Given the description of an element on the screen output the (x, y) to click on. 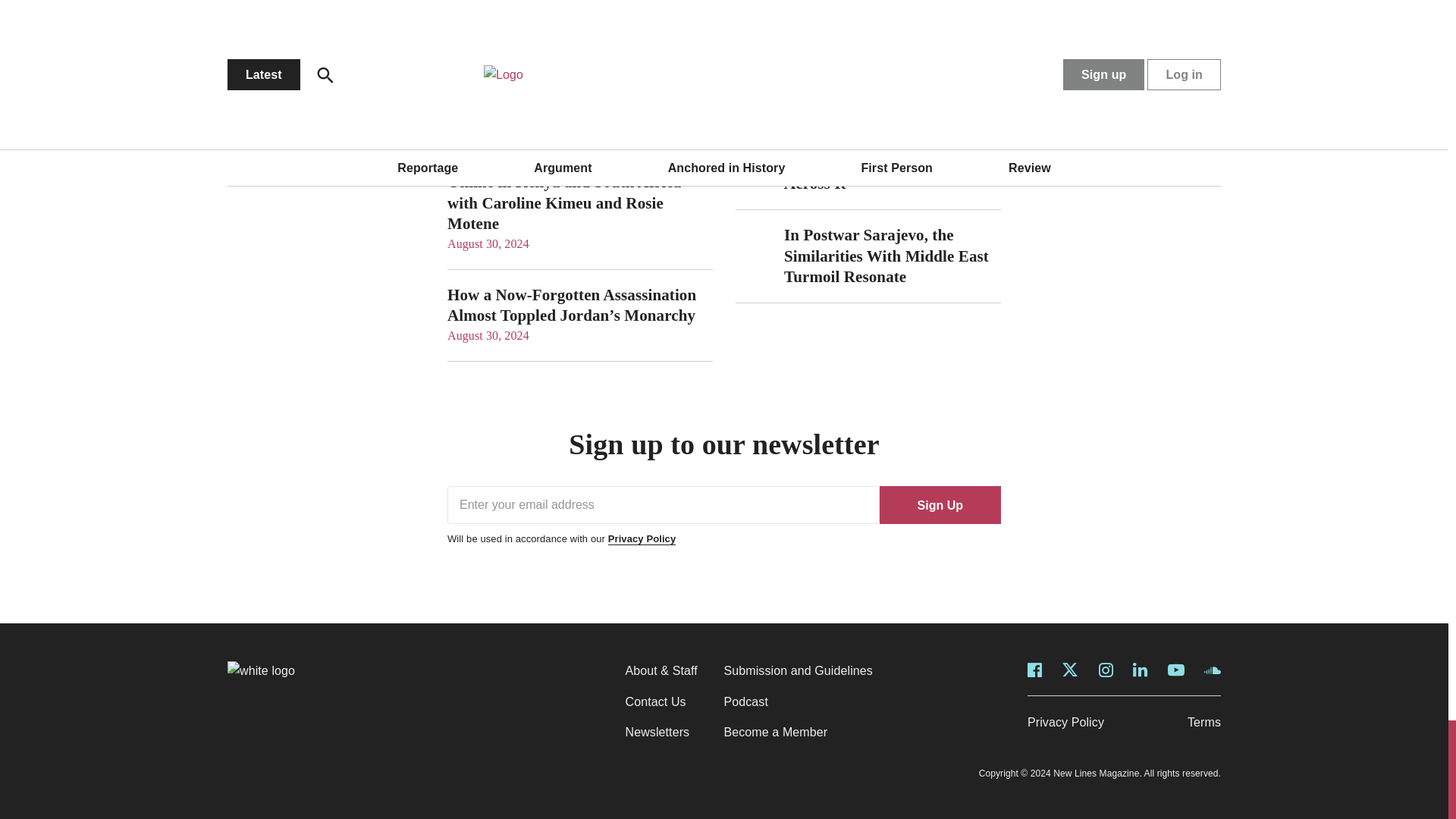
SEE ALL (980, 2)
SEE ALL (692, 2)
Sign Up (940, 505)
